Given the description of an element on the screen output the (x, y) to click on. 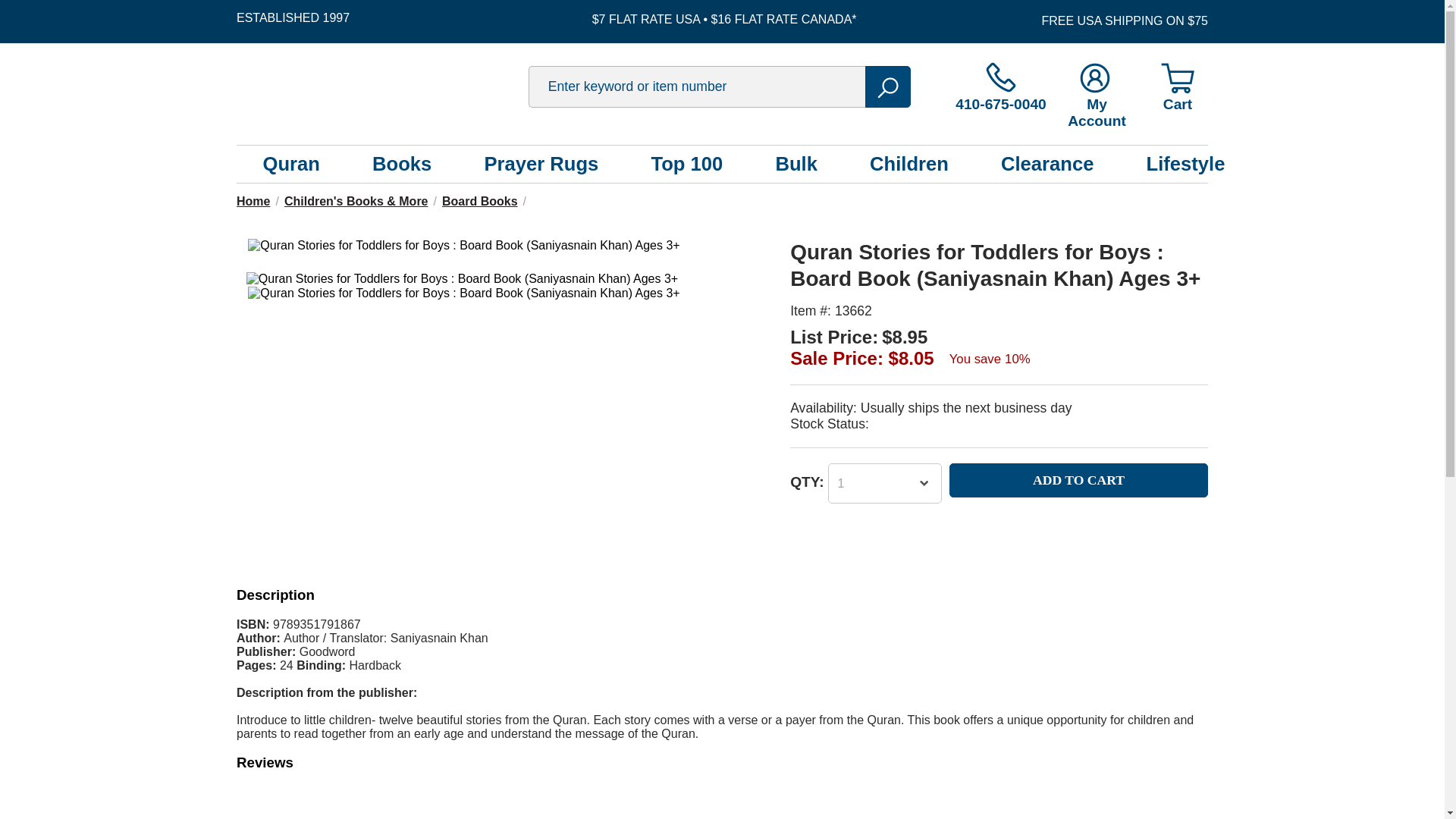
Clearance (1047, 164)
Lifestyle (1186, 164)
Add To Cart (1078, 480)
islamicbookstore.com (376, 86)
Top 100 (686, 164)
Description (274, 594)
Home (252, 201)
Books (401, 164)
Add To Cart (1078, 480)
Prayer Rugs (540, 164)
Board Books (480, 201)
Quran (291, 164)
My Account (1096, 95)
Children (909, 164)
410-675-0040 (1000, 87)
